Given the description of an element on the screen output the (x, y) to click on. 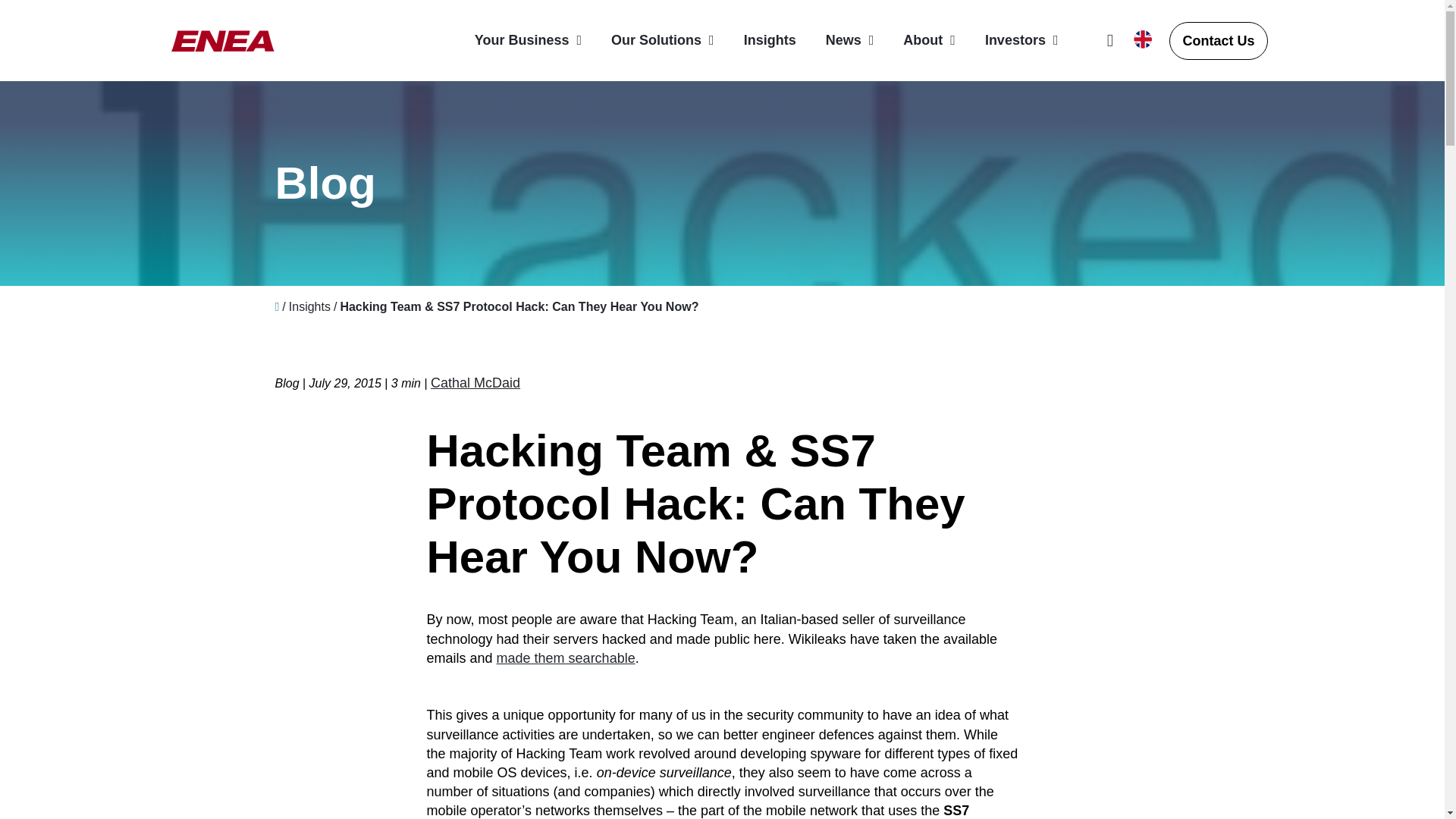
Our Solutions (662, 40)
Your Business (527, 40)
